Given the description of an element on the screen output the (x, y) to click on. 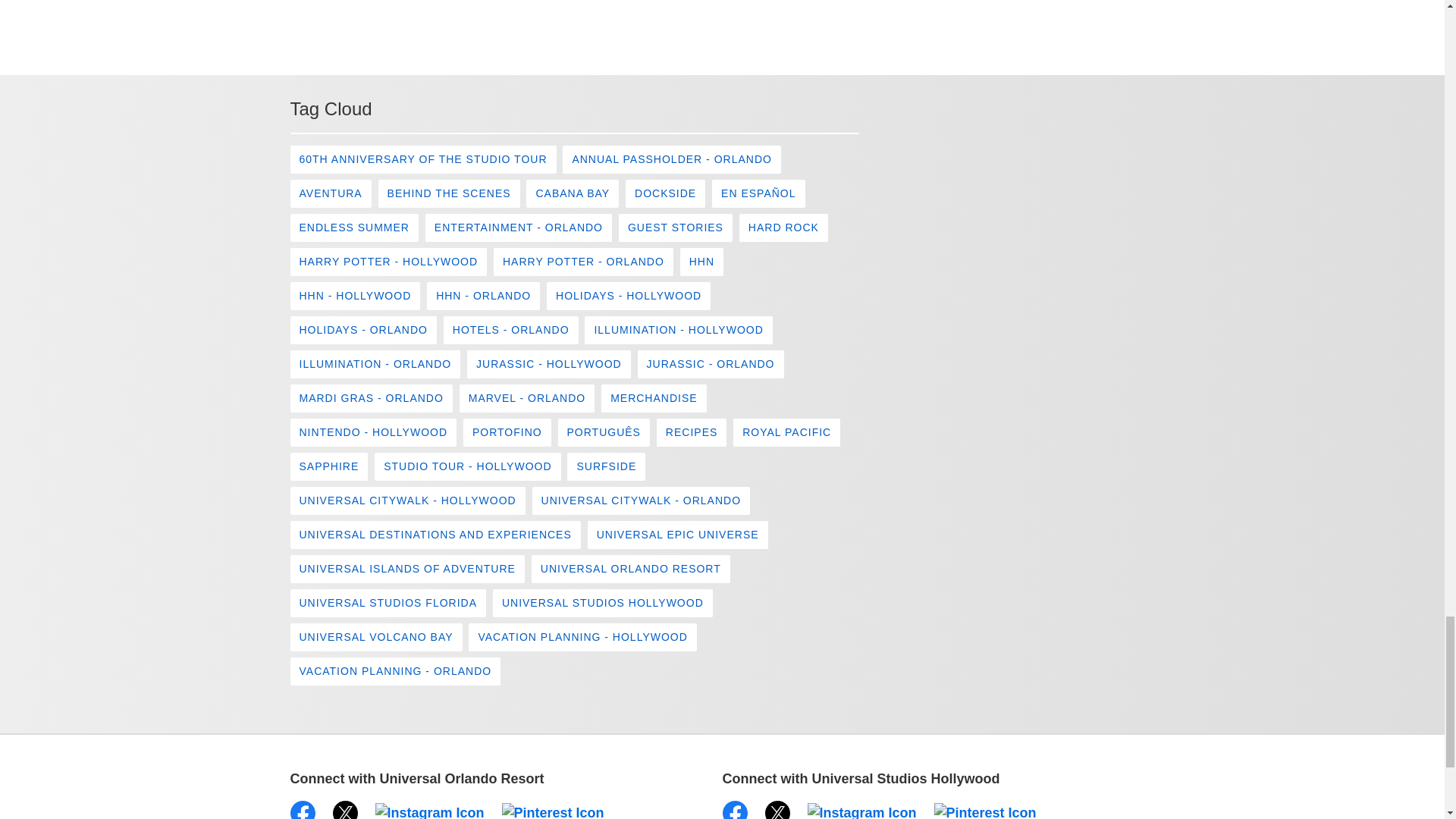
4 topics (448, 193)
9 topics (330, 193)
3 topics (422, 159)
8 topics (671, 159)
